Given the description of an element on the screen output the (x, y) to click on. 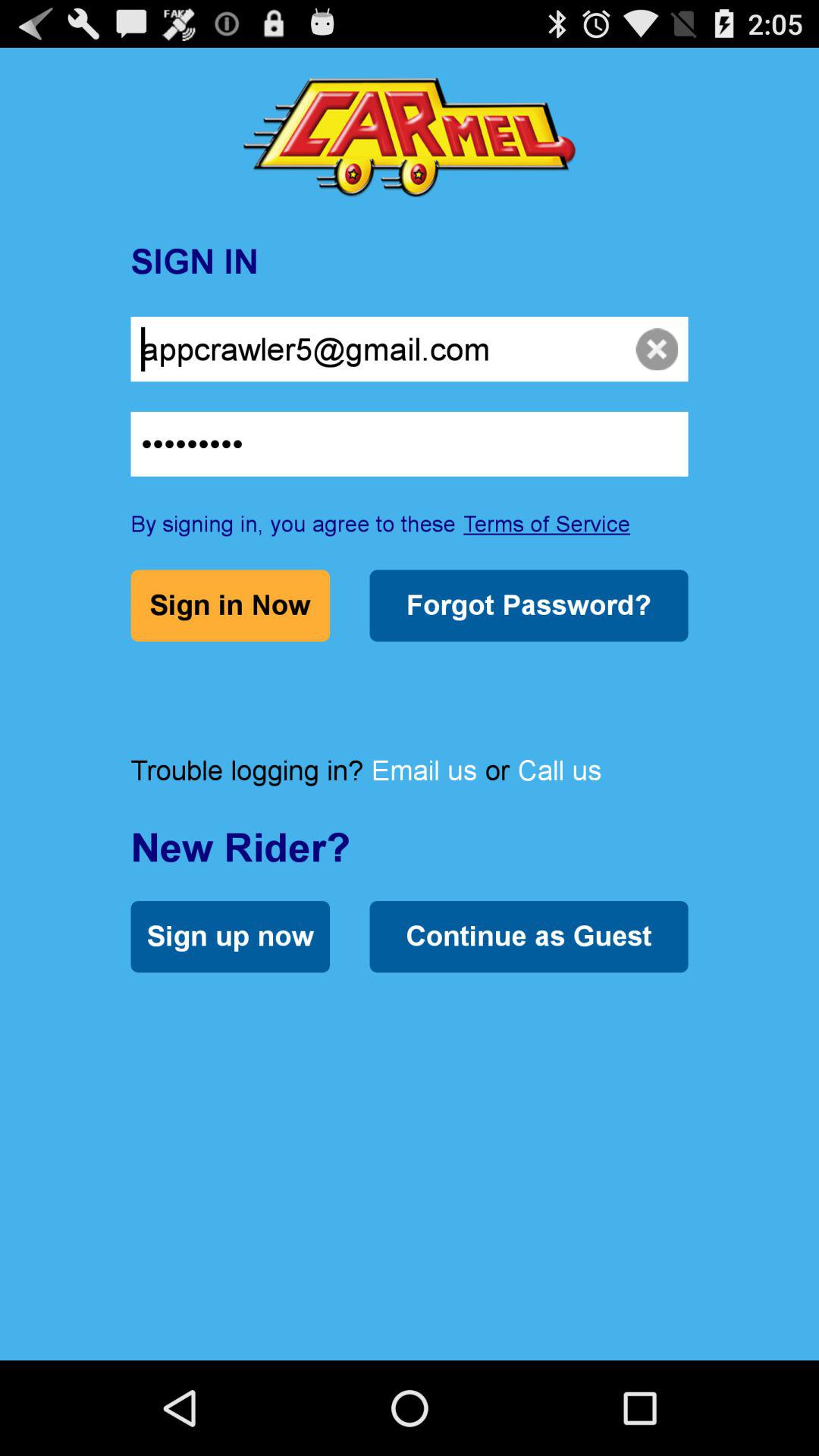
tap terms of service icon (546, 523)
